Given the description of an element on the screen output the (x, y) to click on. 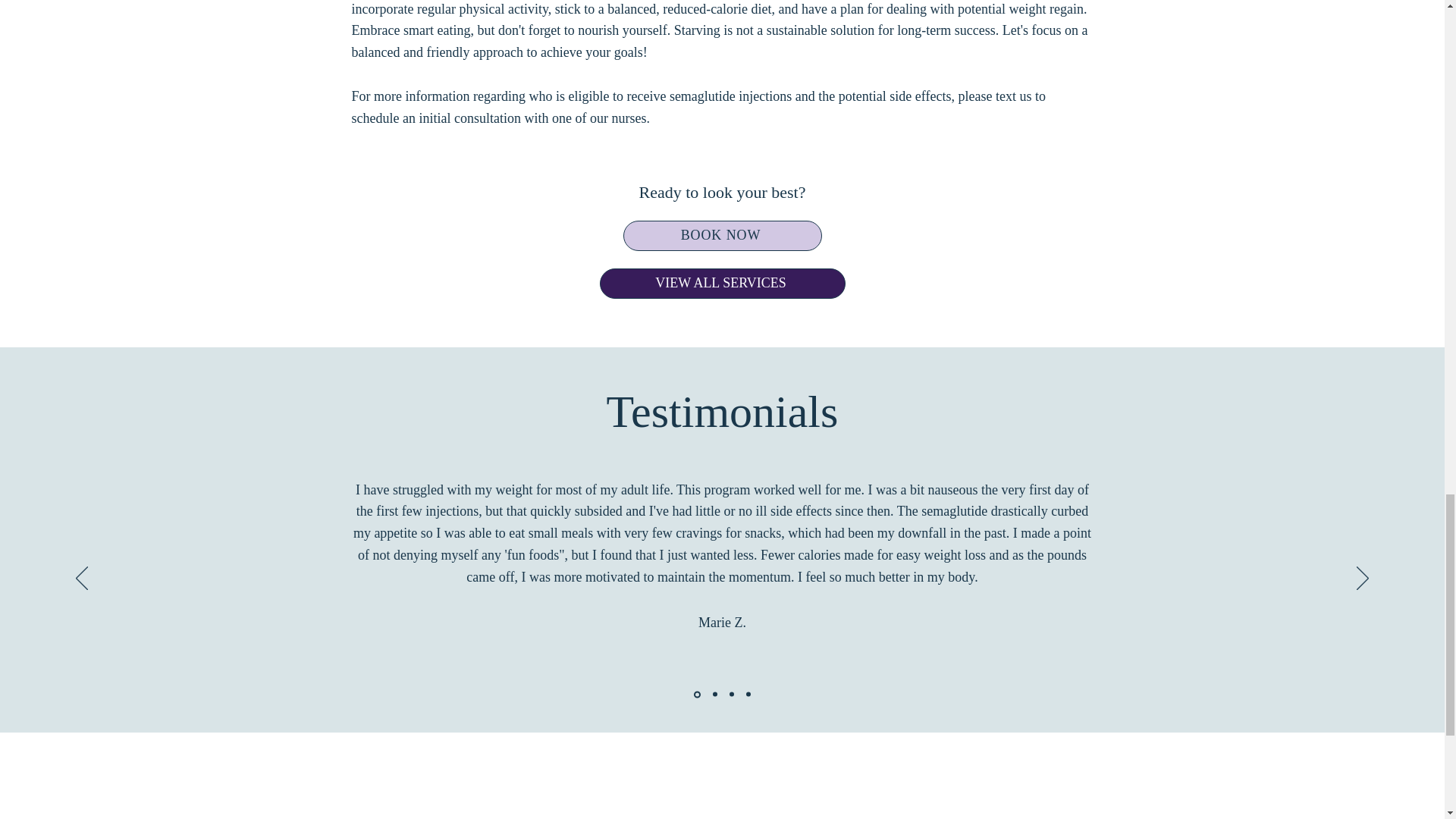
BOOK NOW (722, 235)
VIEW ALL SERVICES (721, 283)
